Given the description of an element on the screen output the (x, y) to click on. 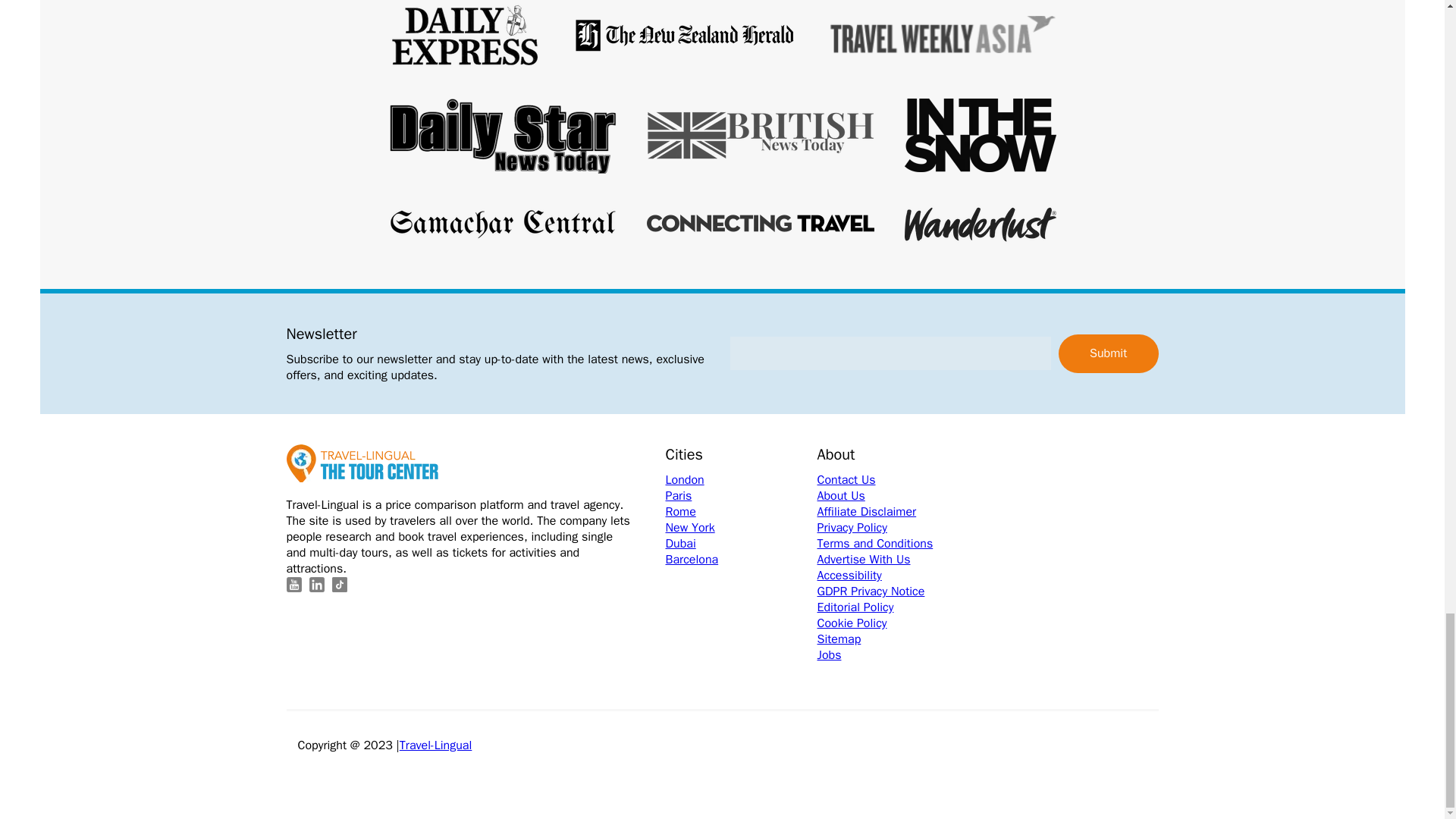
Accessibility (892, 575)
Barcelona (740, 560)
Cookie Policy (892, 623)
Dubai (740, 544)
Affiliate Disclaimer (892, 512)
Rome (740, 512)
Paris (740, 496)
London (740, 480)
Travel-Lingual (434, 745)
Terms and Conditions (892, 544)
About Us (892, 496)
Advertise With Us (892, 560)
Editorial Policy (892, 607)
Sitemap (892, 639)
Jobs (892, 655)
